Given the description of an element on the screen output the (x, y) to click on. 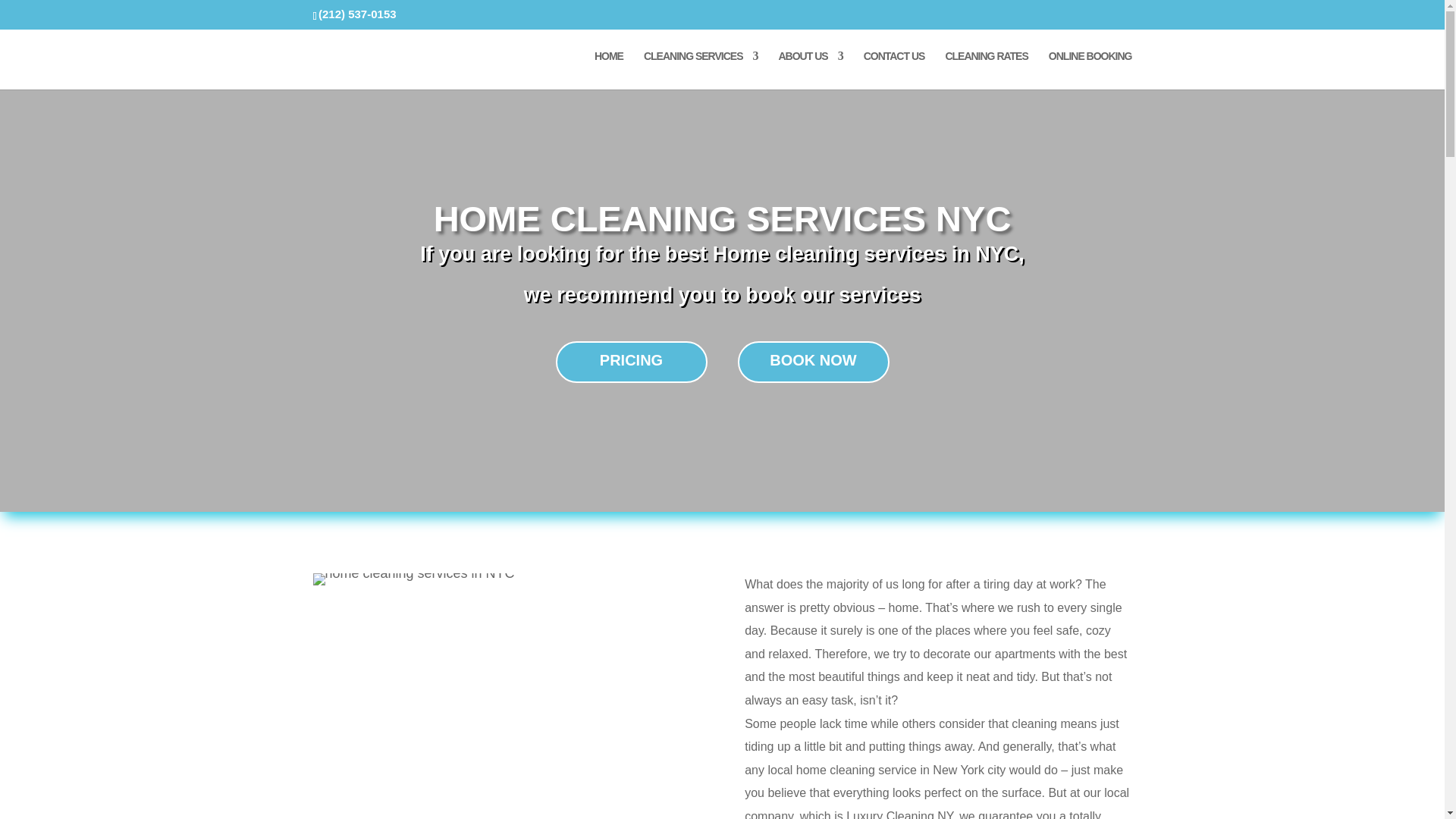
CLEANING RATES (985, 69)
ONLINE BOOKING (1090, 69)
home cleaning services (413, 579)
CLEANING SERVICES (700, 69)
CONTACT US (893, 69)
ABOUT US (810, 69)
